Given the description of an element on the screen output the (x, y) to click on. 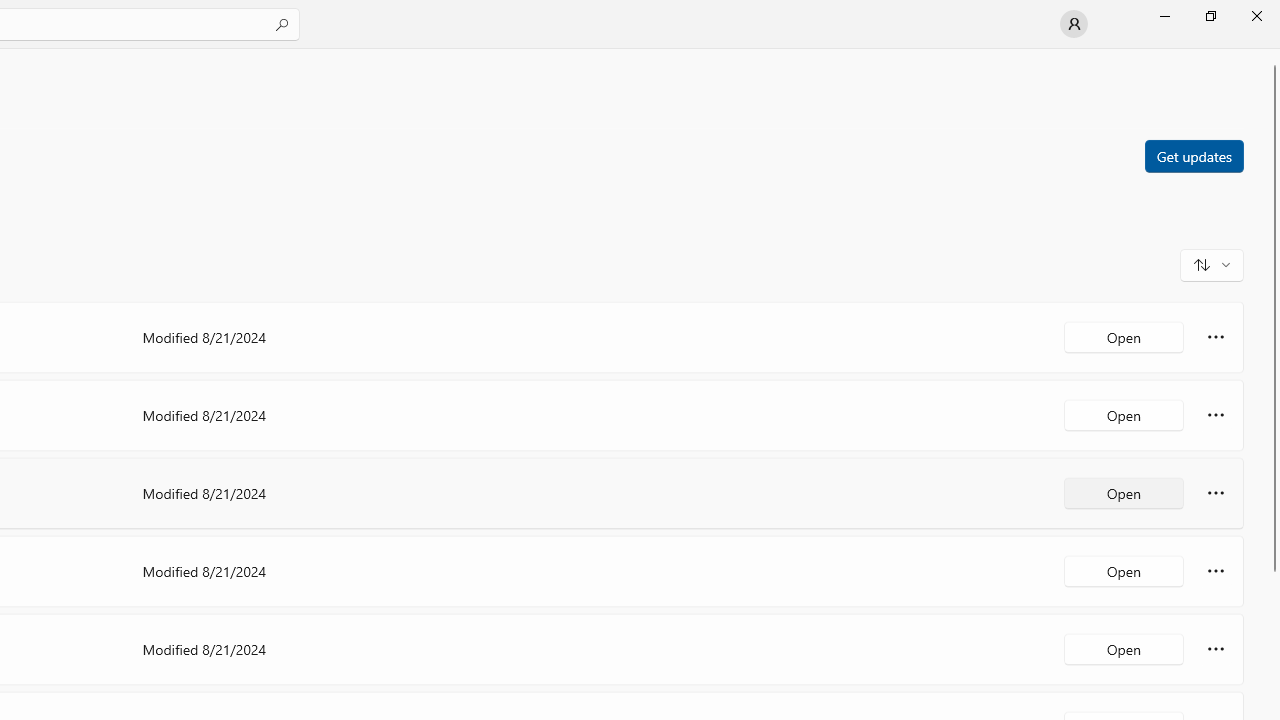
Sort and filter (1212, 263)
Get updates (1193, 155)
Vertical Small Decrease (1272, 55)
More options (1215, 648)
Close Microsoft Store (1256, 15)
User profile (1073, 24)
Open (1123, 648)
Restore Microsoft Store (1210, 15)
Minimize Microsoft Store (1164, 15)
